Given the description of an element on the screen output the (x, y) to click on. 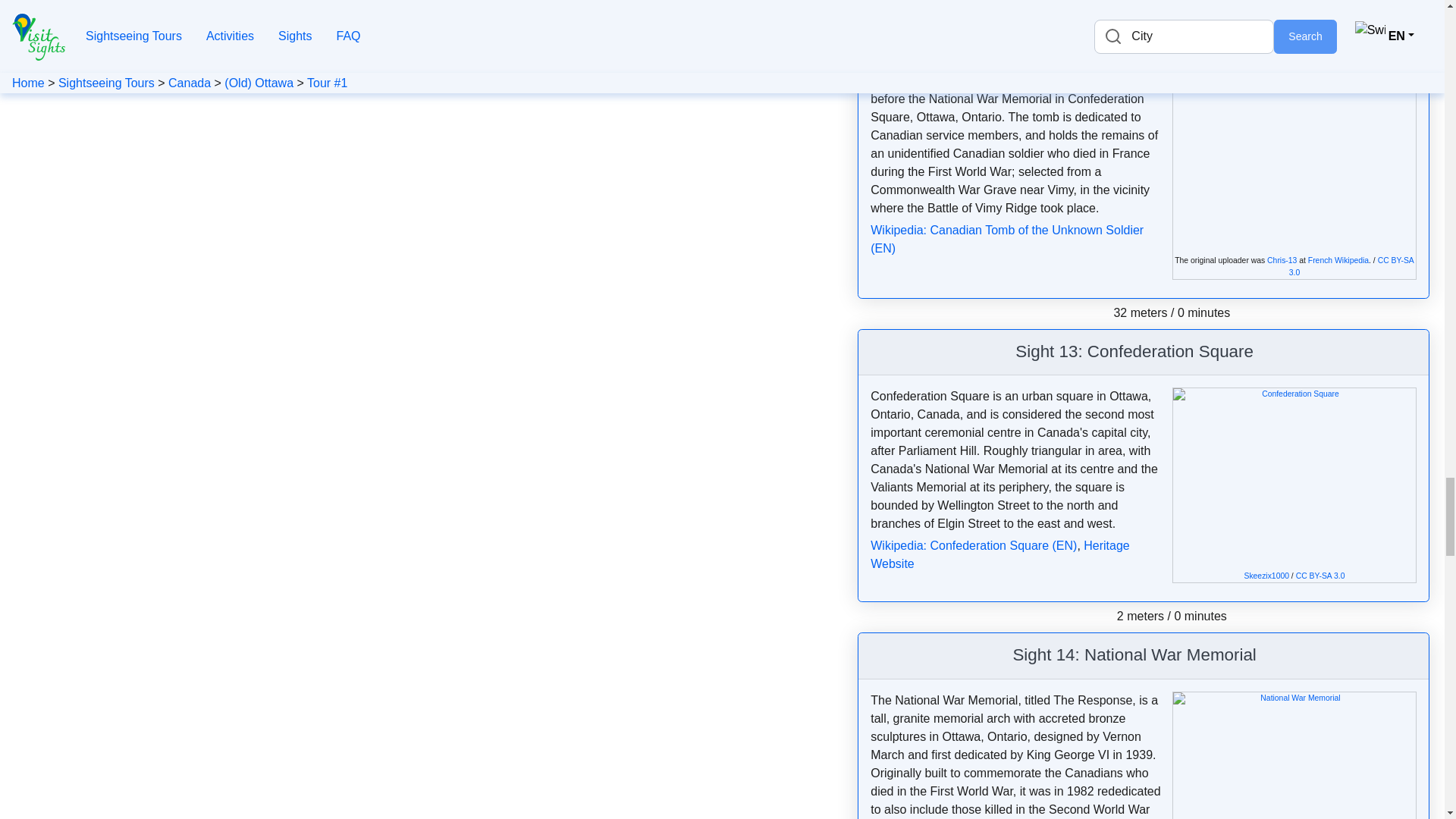
w:fr:User:Chris-13 (1281, 260)
User:Skeezix1000 (1265, 575)
w:fr: (1337, 260)
